Given the description of an element on the screen output the (x, y) to click on. 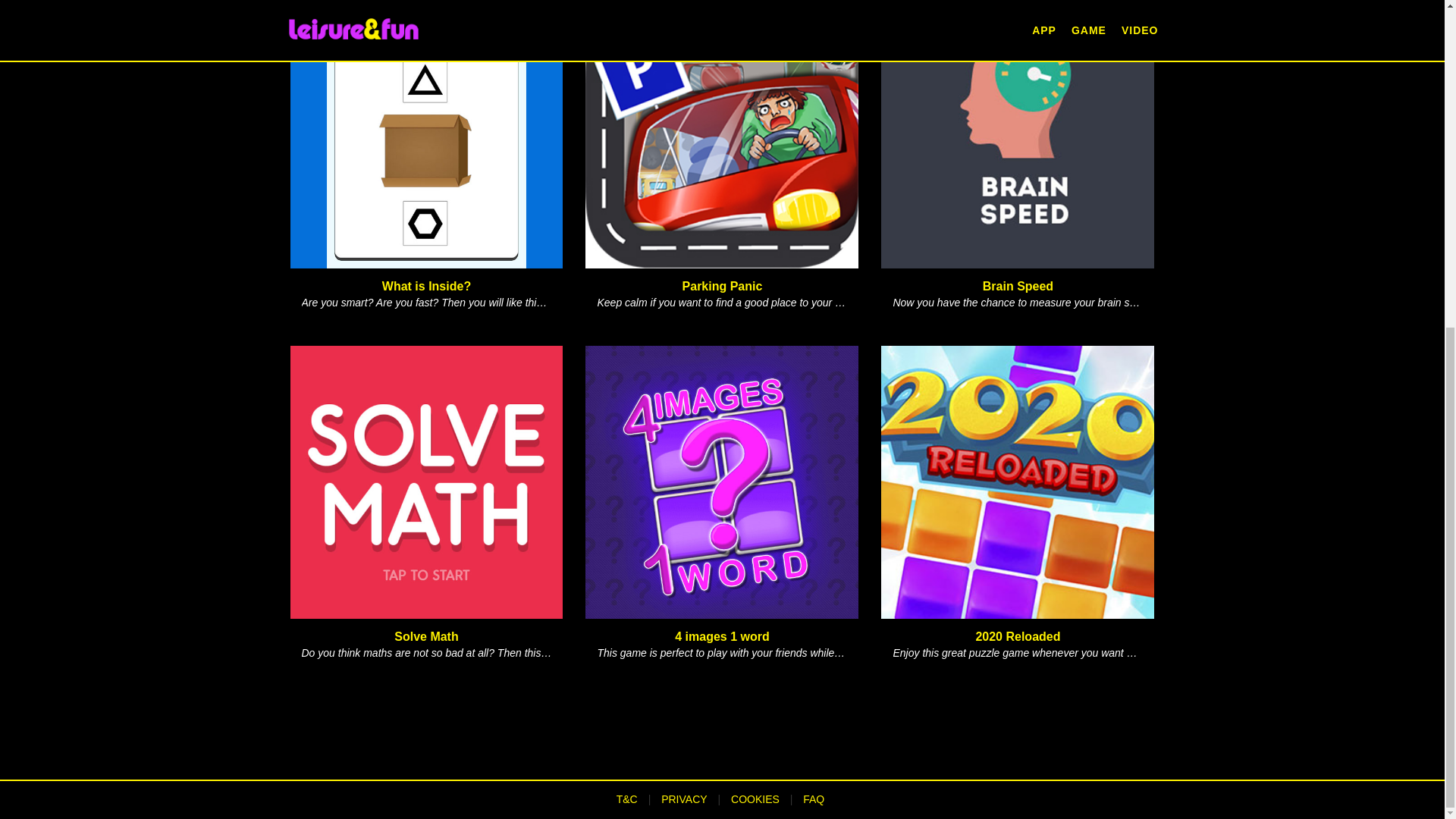
PRIVACY (683, 799)
COOKIES (754, 799)
FAQ (813, 799)
